Given the description of an element on the screen output the (x, y) to click on. 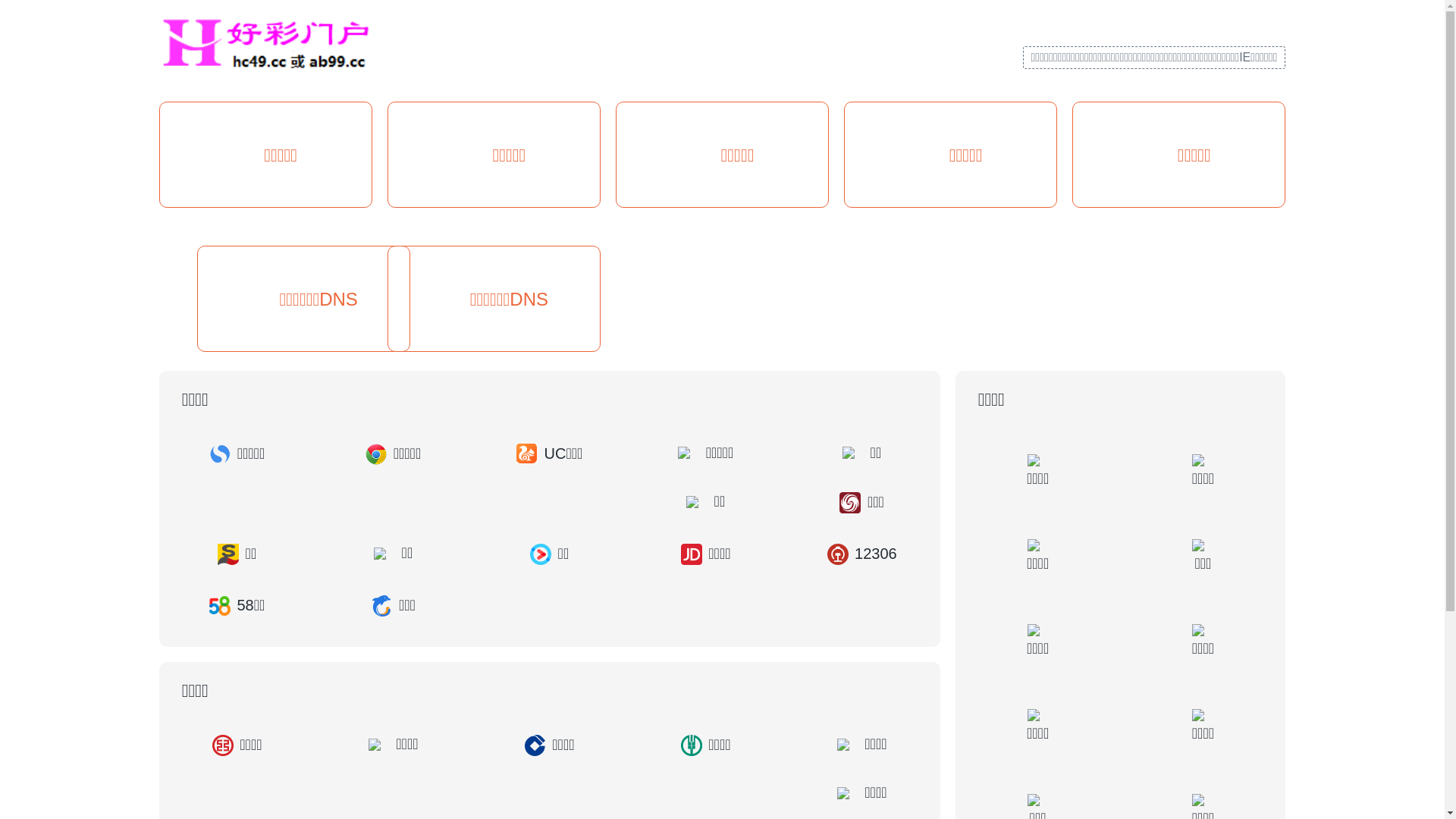
12306 Element type: text (862, 554)
